Given the description of an element on the screen output the (x, y) to click on. 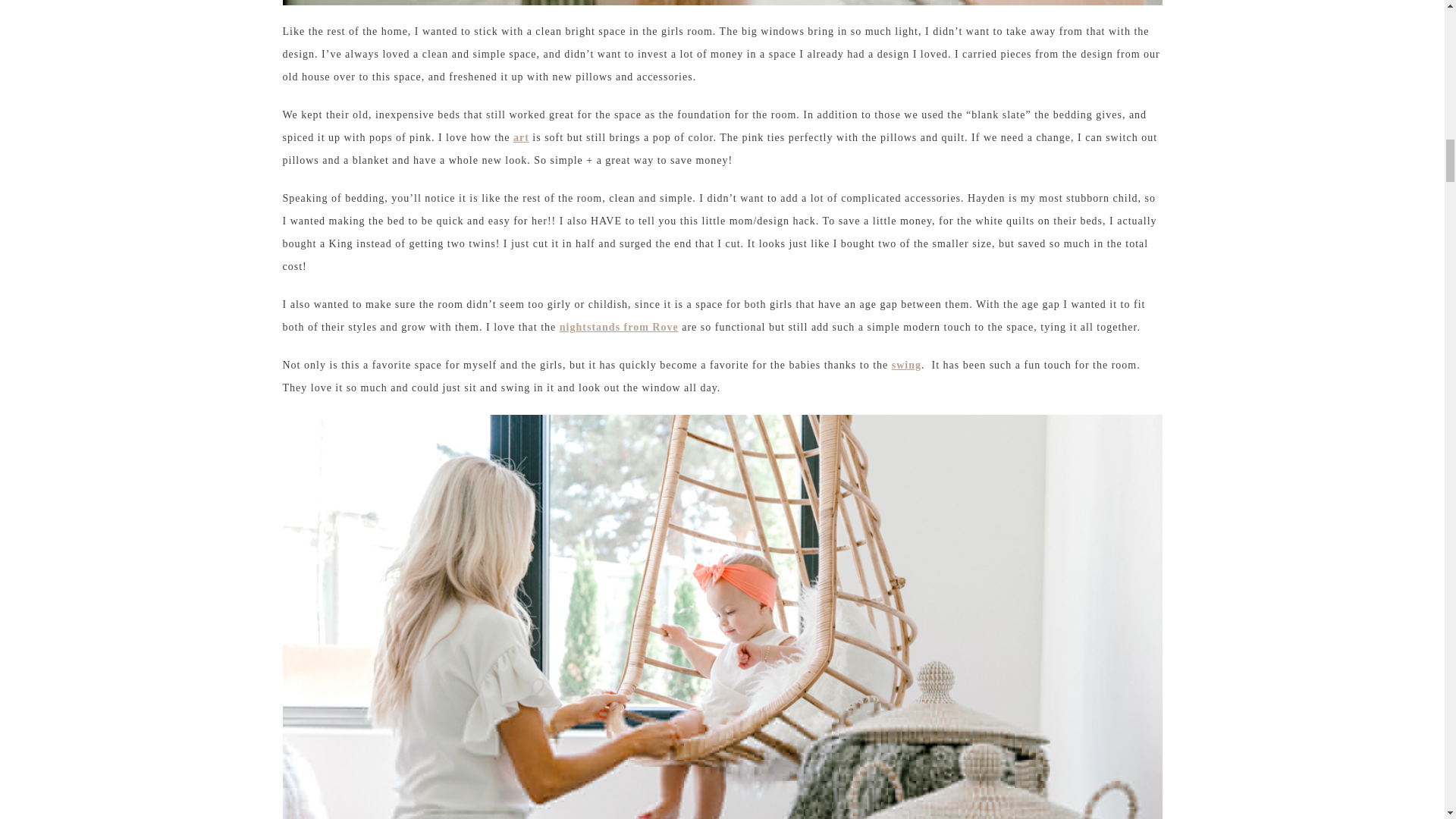
swing (906, 365)
art (521, 137)
nightstands from Rove (618, 326)
